Given the description of an element on the screen output the (x, y) to click on. 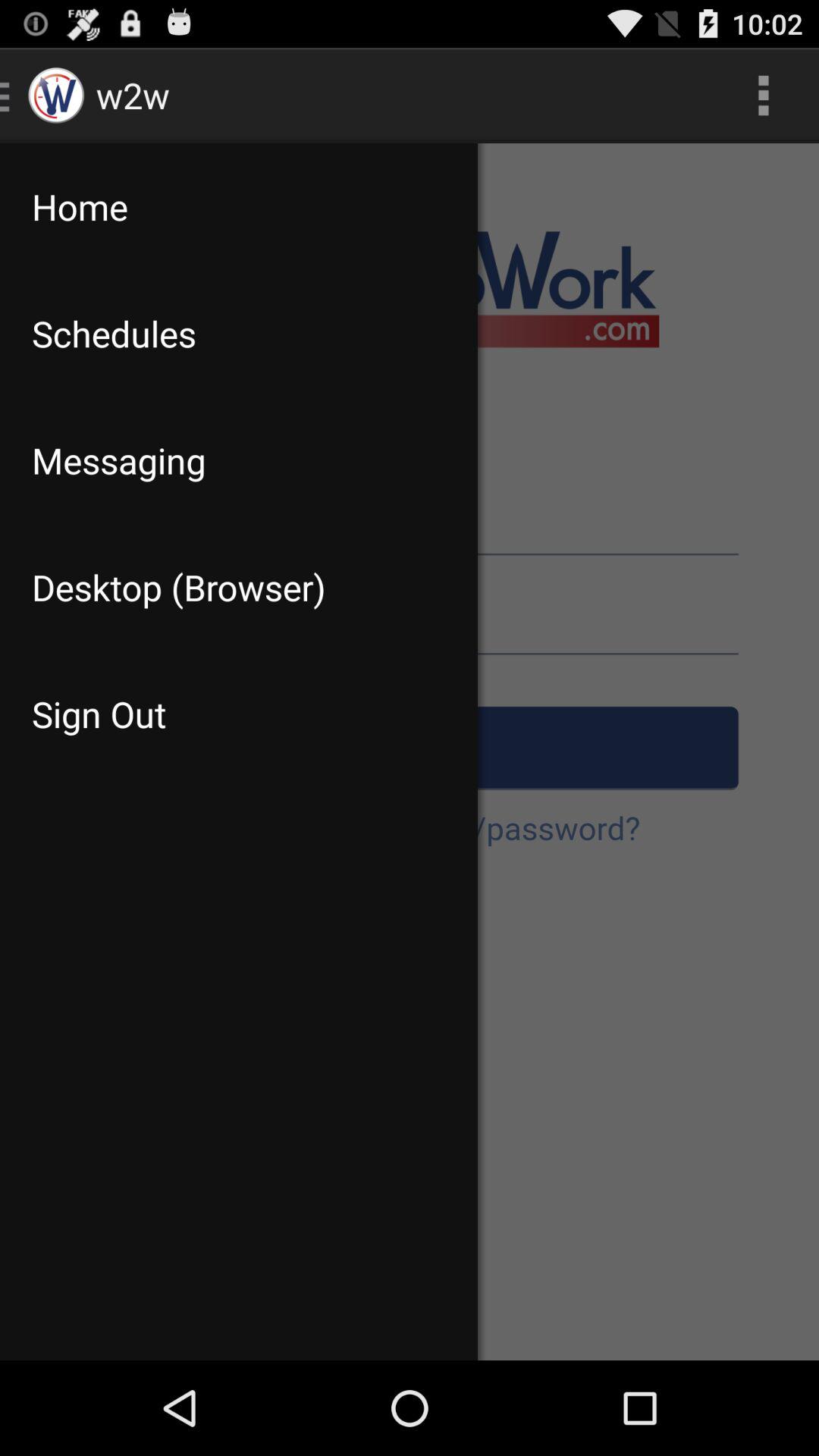
open the item below schedules item (238, 460)
